Given the description of an element on the screen output the (x, y) to click on. 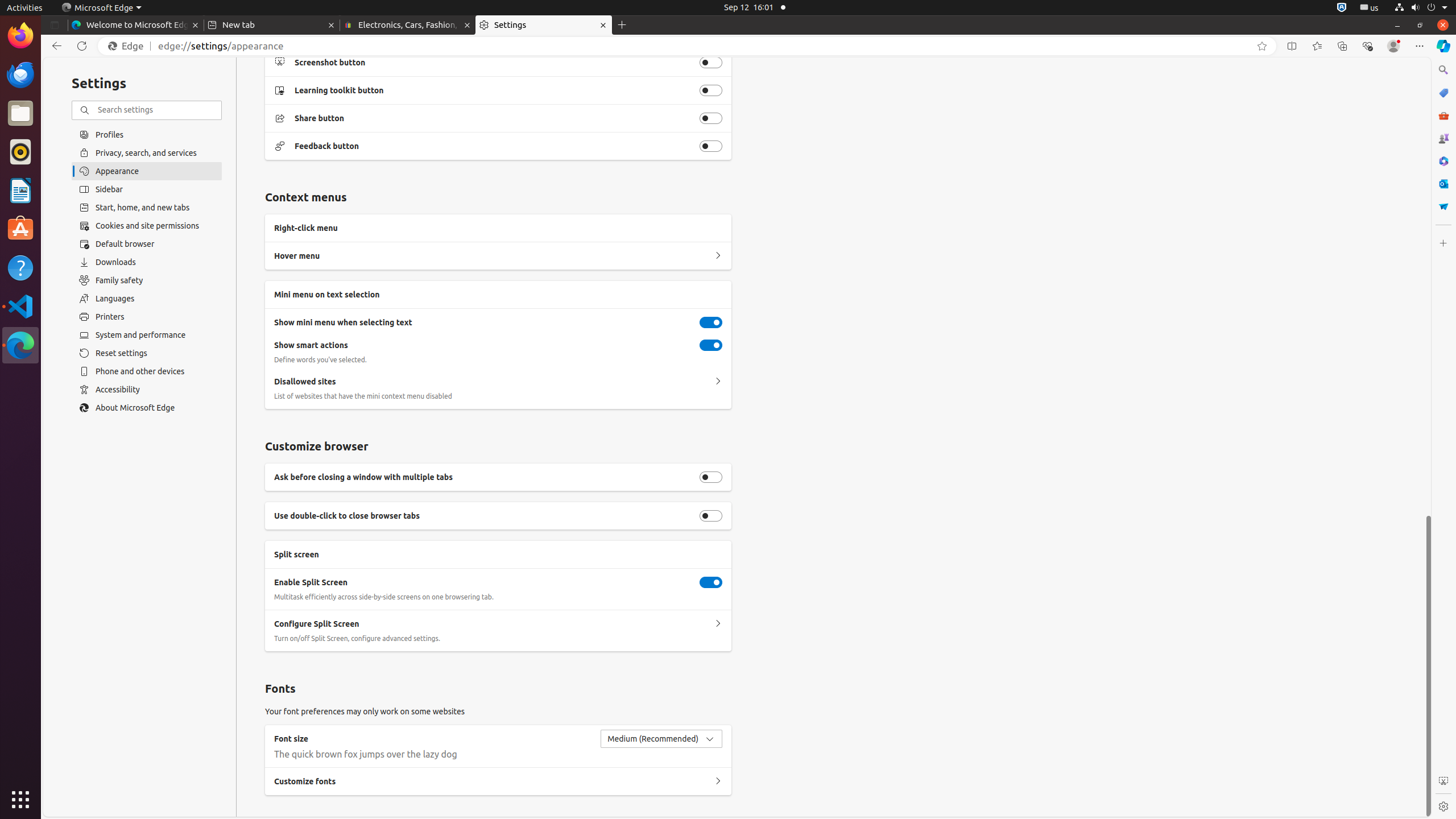
Settings Element type: push-button (1443, 806)
Add this page to favorites (Ctrl+D) Element type: push-button (1261, 46)
Help Element type: push-button (20, 267)
Settings Element type: page-tab (543, 25)
Family safety Element type: tree-item (146, 280)
